Given the description of an element on the screen output the (x, y) to click on. 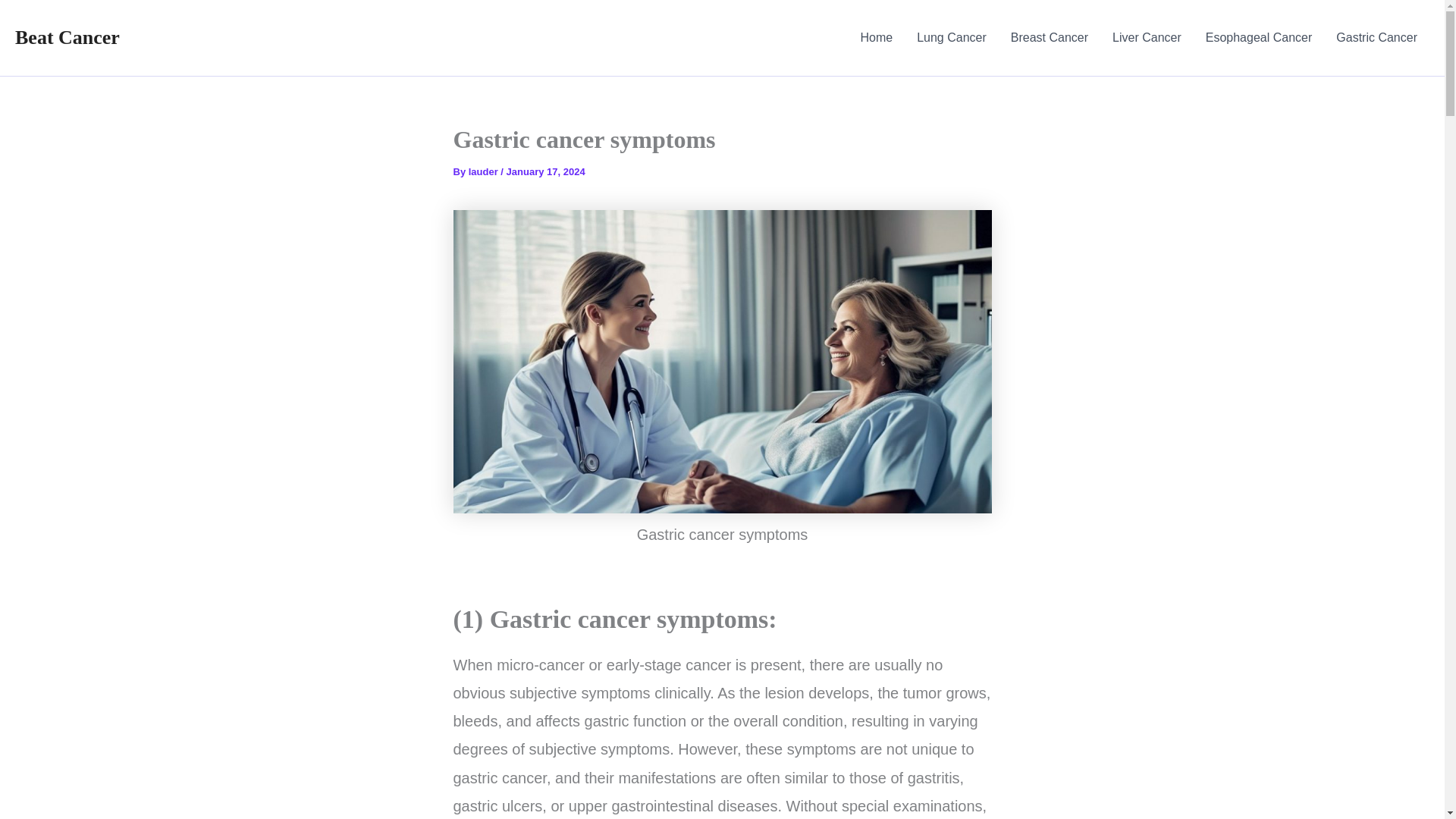
View all posts by lauder (484, 171)
Breast Cancer (1049, 38)
Liver Cancer (1146, 38)
lauder (484, 171)
Gastric Cancer (1376, 38)
Lung Cancer (951, 38)
Esophageal Cancer (1258, 38)
Beat Cancer (66, 37)
